Given the description of an element on the screen output the (x, y) to click on. 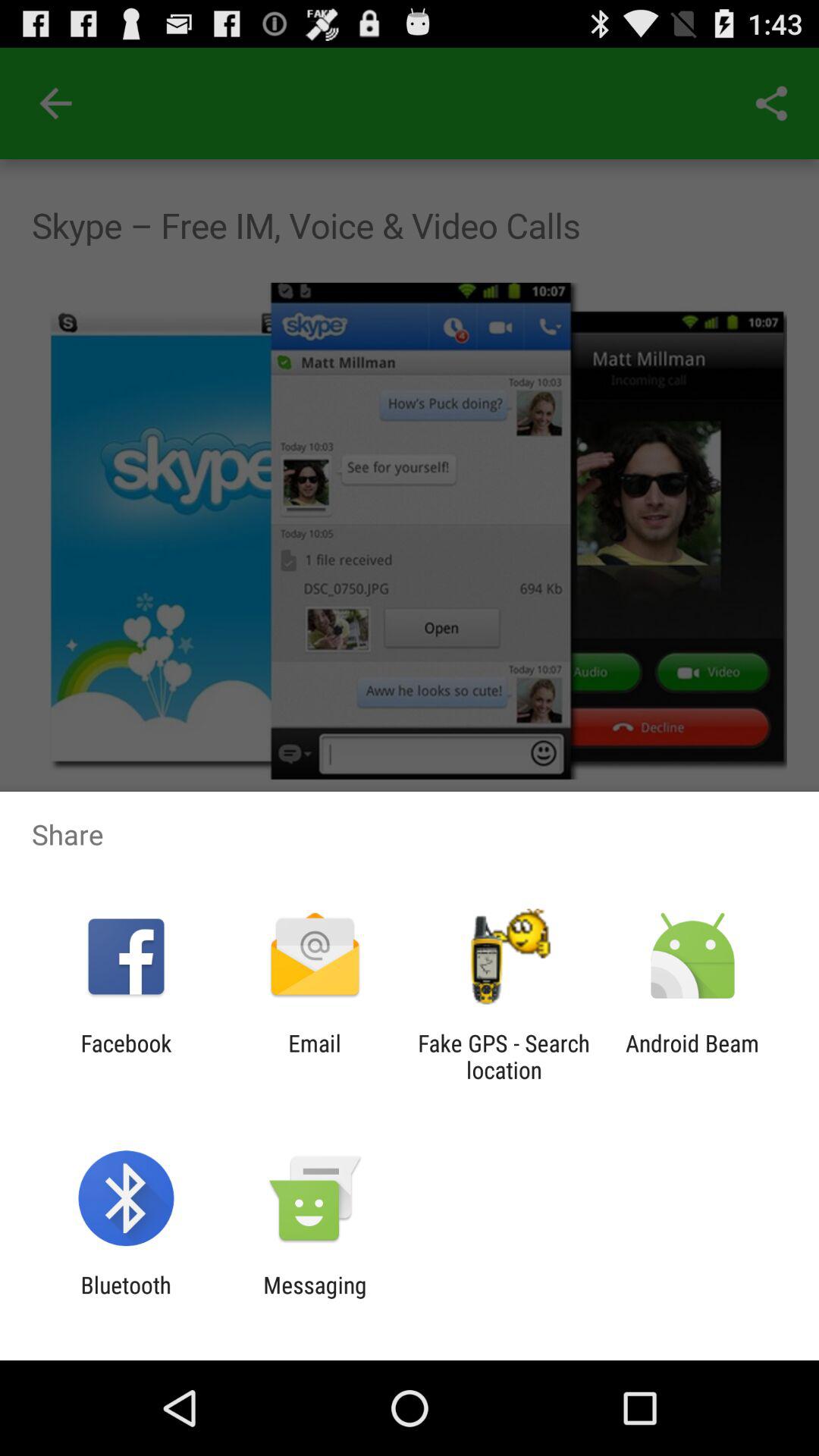
tap item at the bottom right corner (692, 1056)
